Given the description of an element on the screen output the (x, y) to click on. 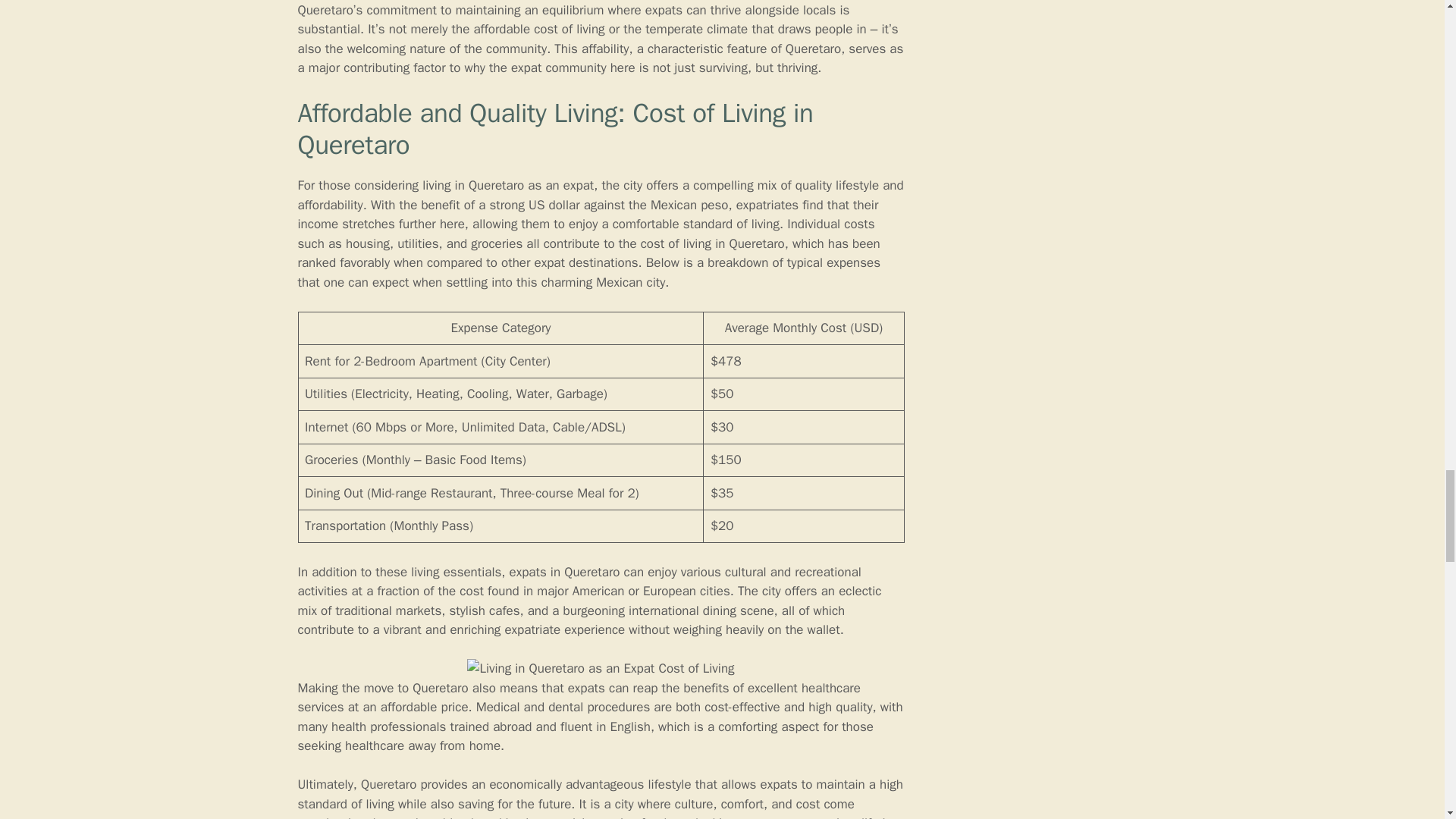
Living in Queretaro as an Expat Cost of Living (600, 668)
